Given the description of an element on the screen output the (x, y) to click on. 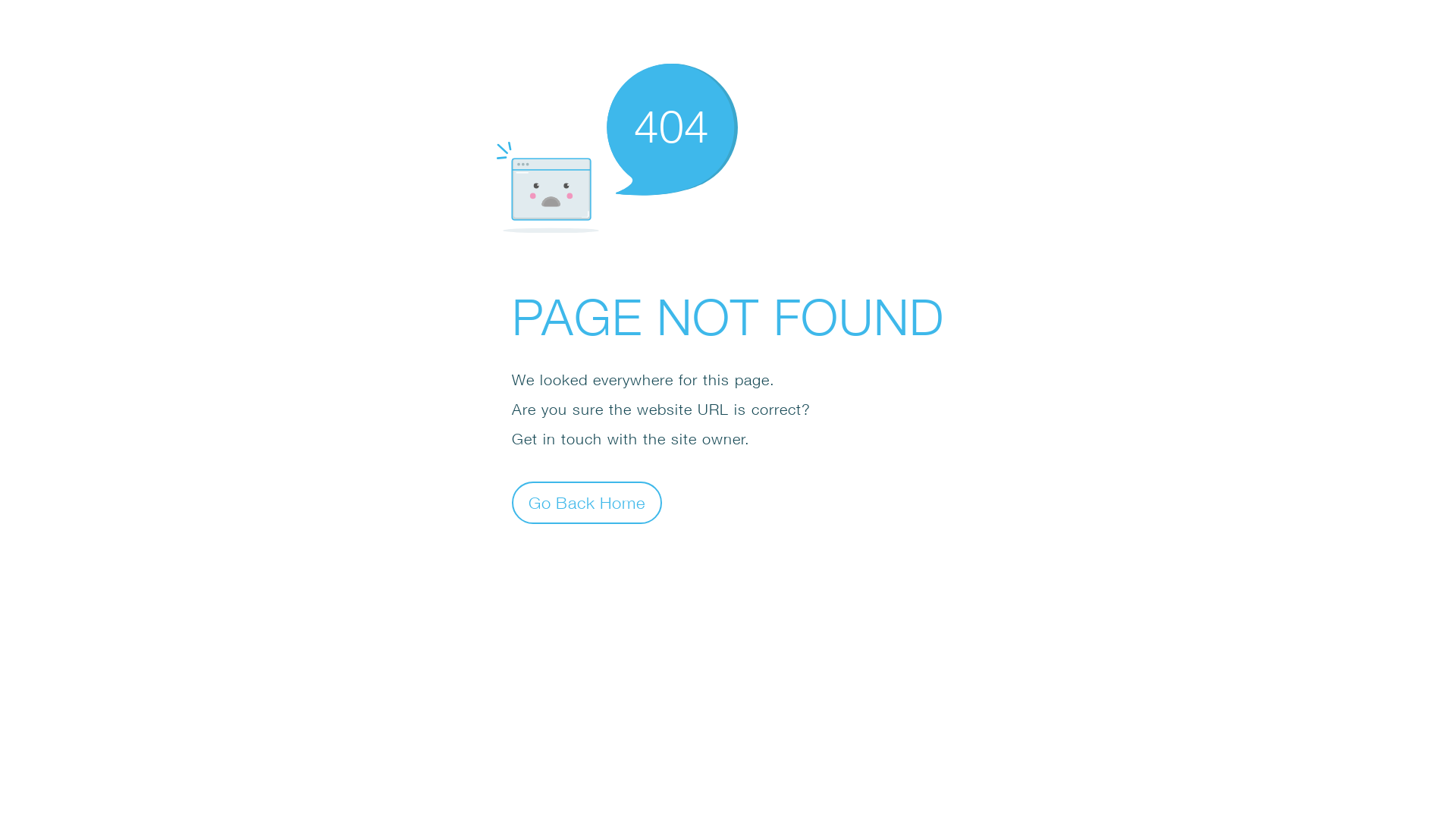
Go Back Home Element type: text (586, 502)
